Given the description of an element on the screen output the (x, y) to click on. 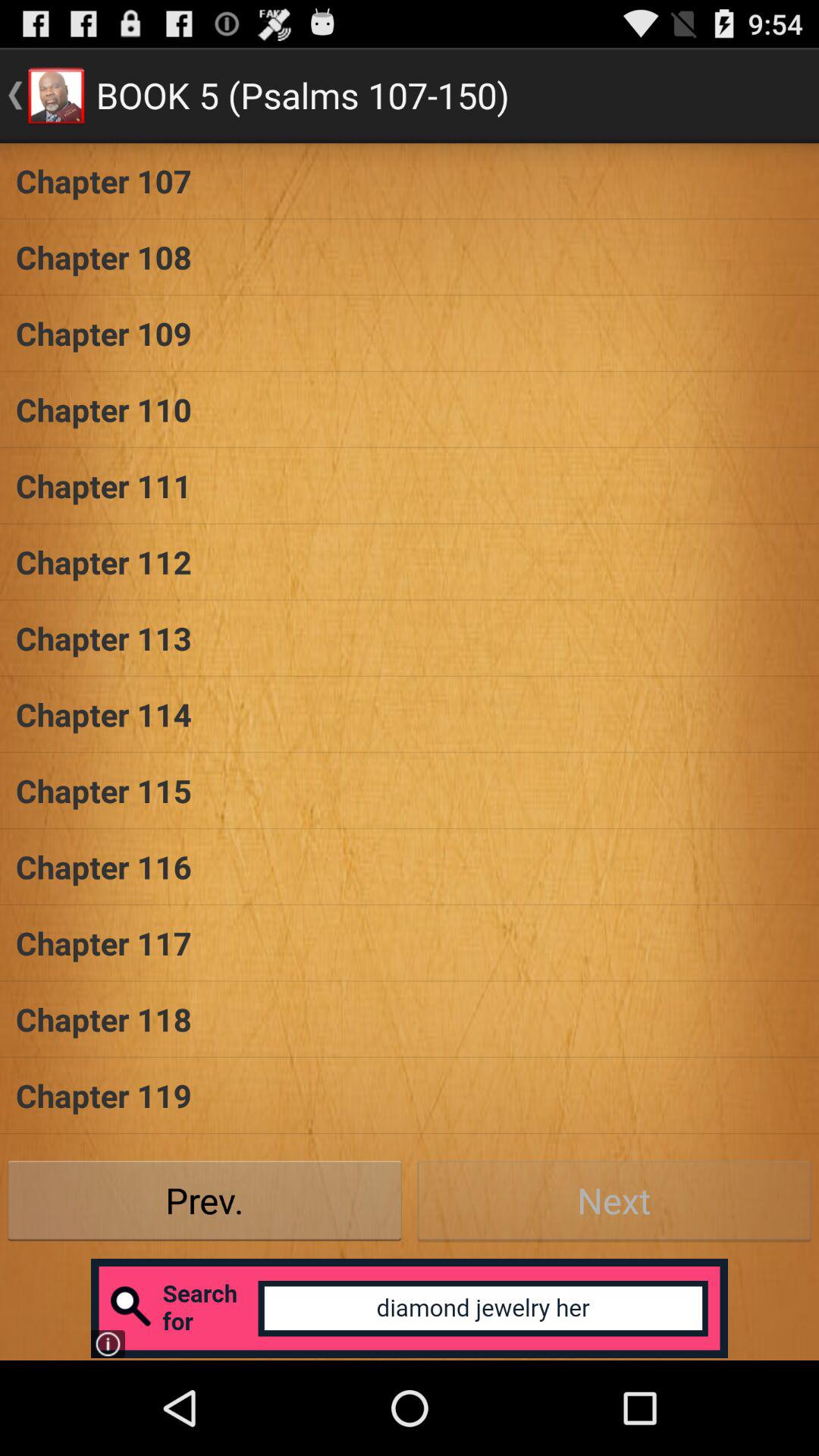
open advertisement (409, 1308)
